Given the description of an element on the screen output the (x, y) to click on. 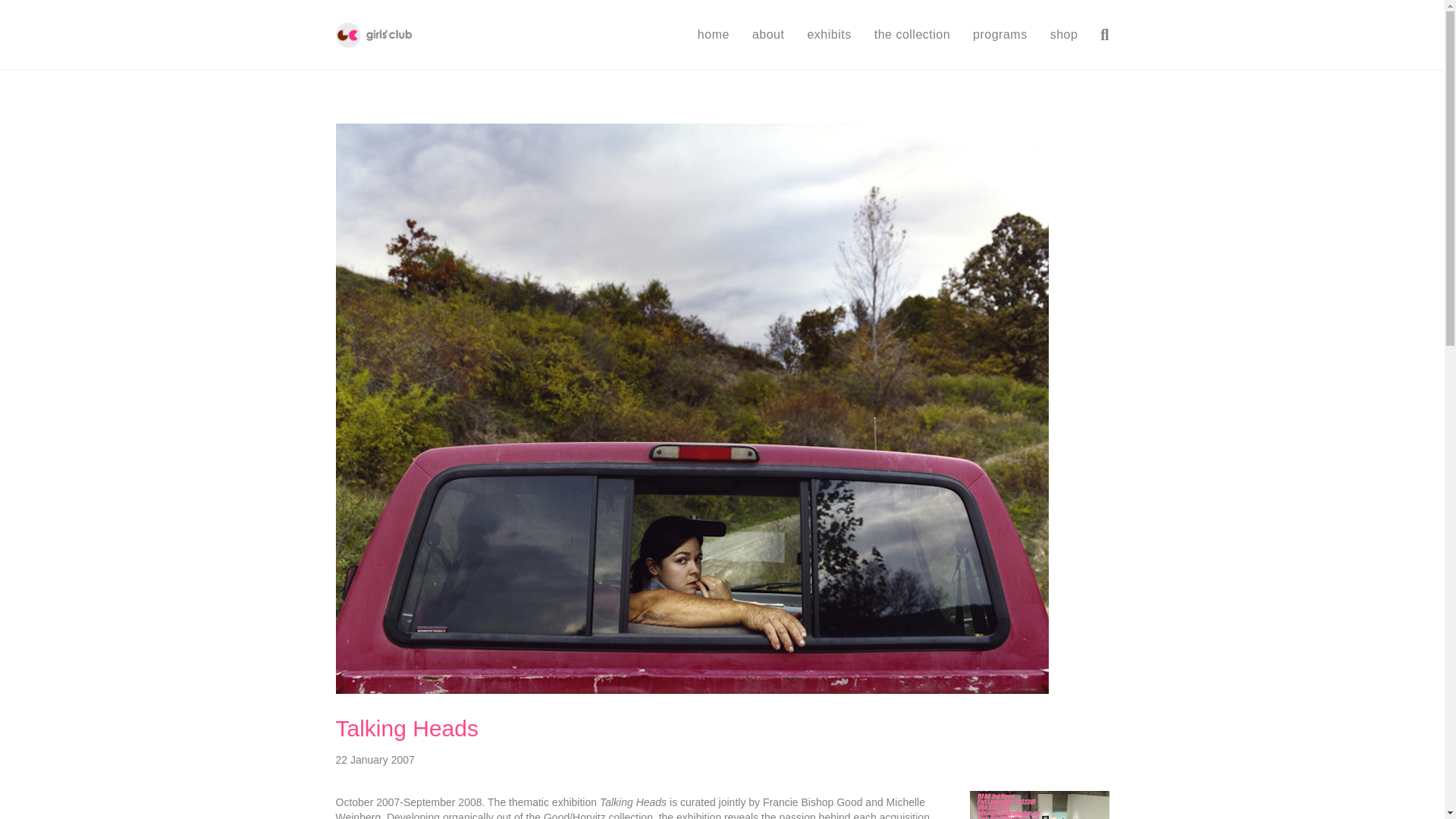
home (713, 34)
exhibits (827, 34)
about (768, 34)
shop (1064, 34)
the collection (911, 34)
Talking Heads- flyer, both sides (1038, 805)
programs (999, 34)
